Given the description of an element on the screen output the (x, y) to click on. 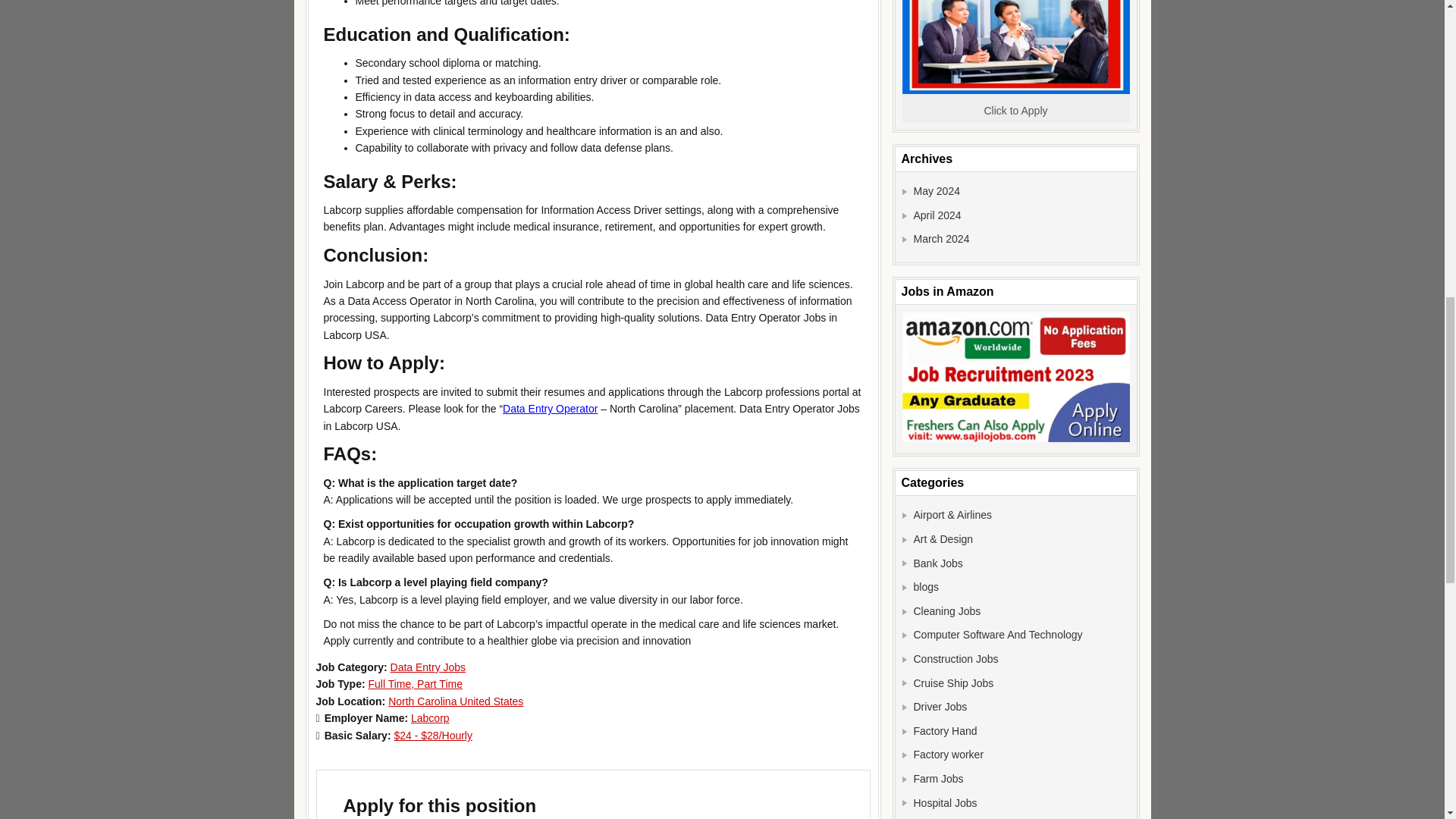
Jobs in Amazon (1015, 377)
March 2024 (940, 238)
Labcorp (429, 717)
May 2024 (935, 191)
Data Entry Operator (549, 408)
Data Entry Jobs (427, 666)
Part Time (439, 684)
North Carolina United States (455, 701)
Jobs in Canada (1015, 47)
Full Time (392, 684)
April 2024 (936, 215)
